Given the description of an element on the screen output the (x, y) to click on. 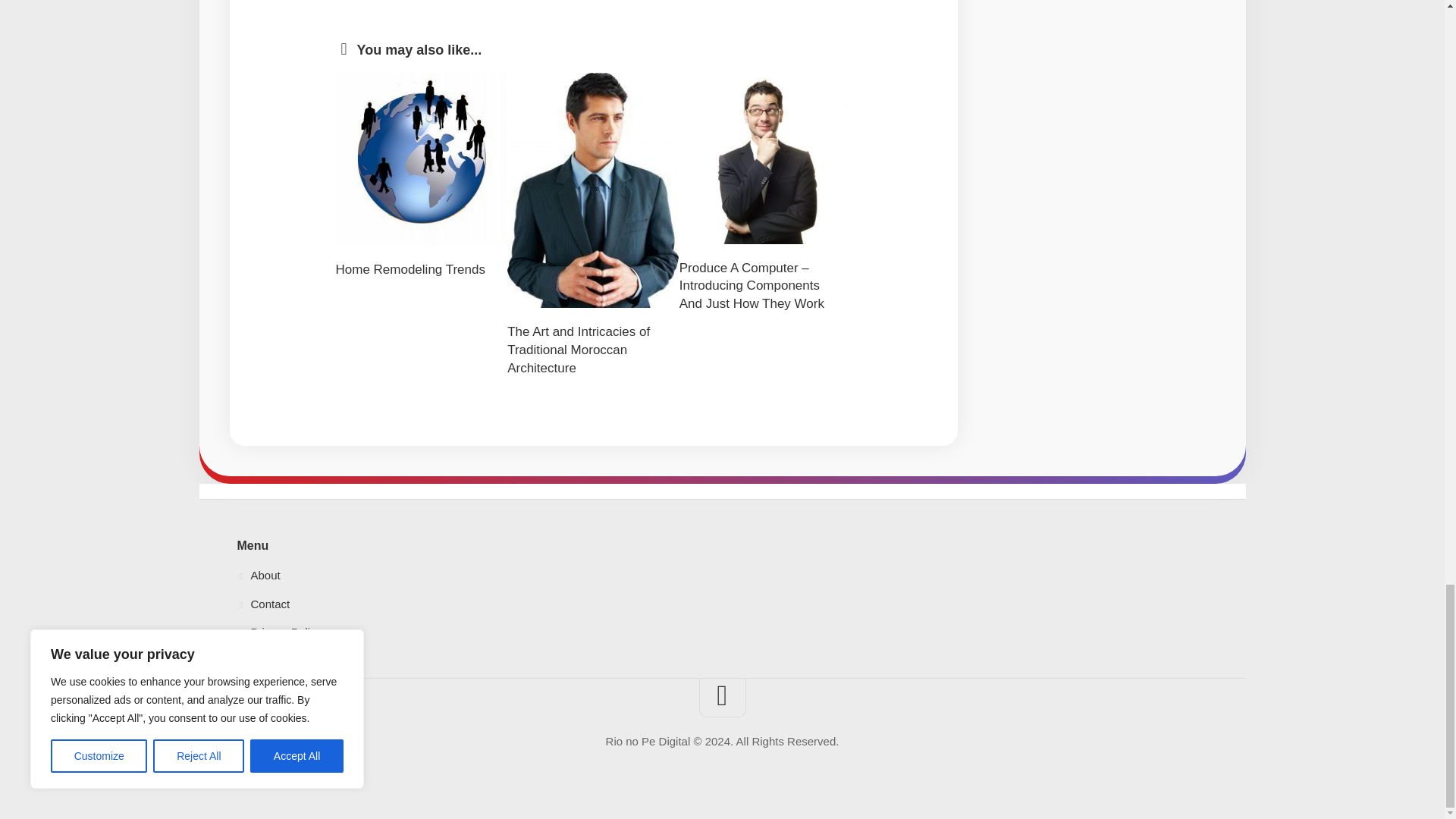
Home Remodeling Trends (409, 269)
The Art and Intricacies of Traditional Moroccan Architecture (577, 349)
